Given the description of an element on the screen output the (x, y) to click on. 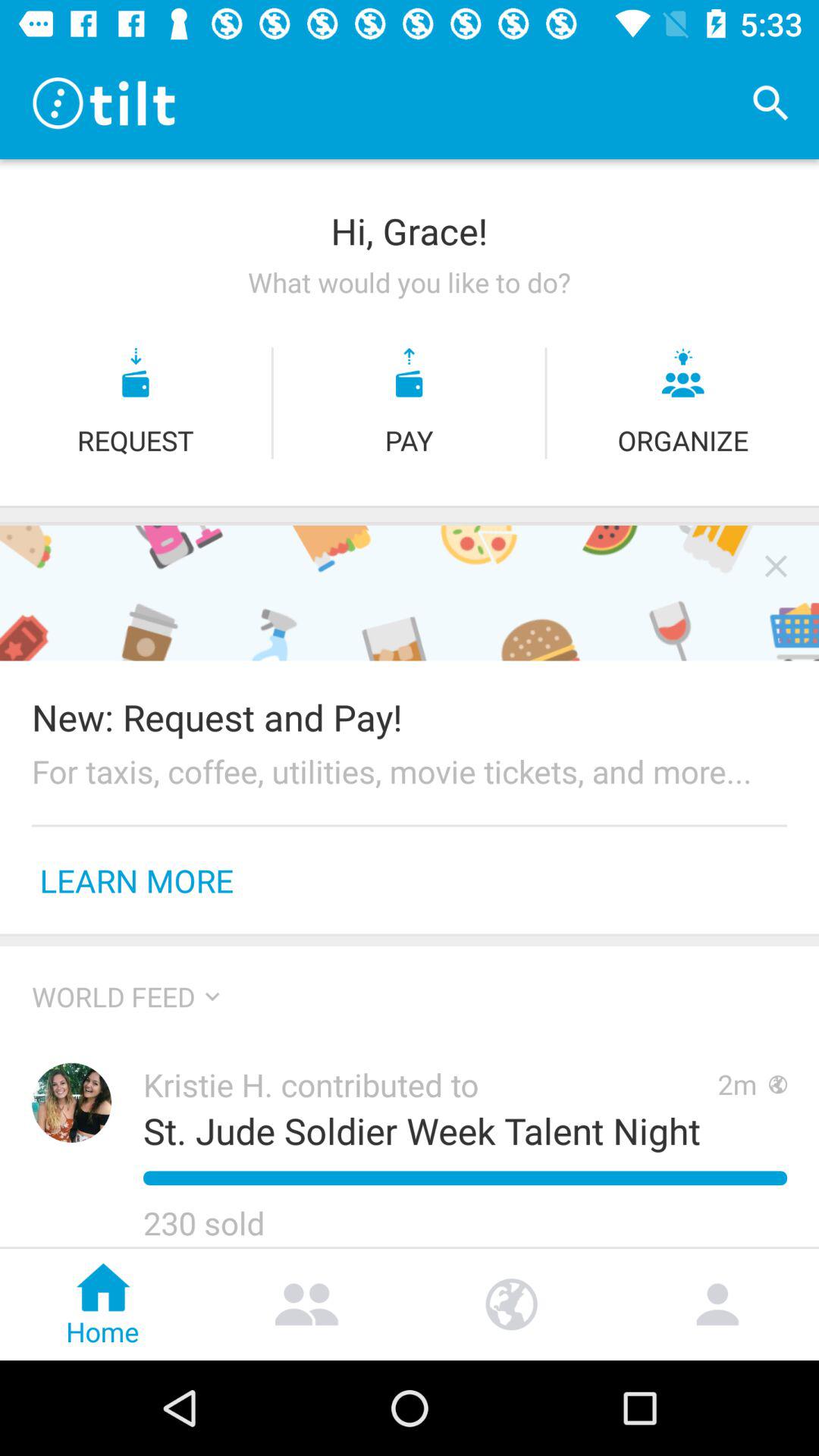
select icon to the right of 2m item (777, 1084)
